Given the description of an element on the screen output the (x, y) to click on. 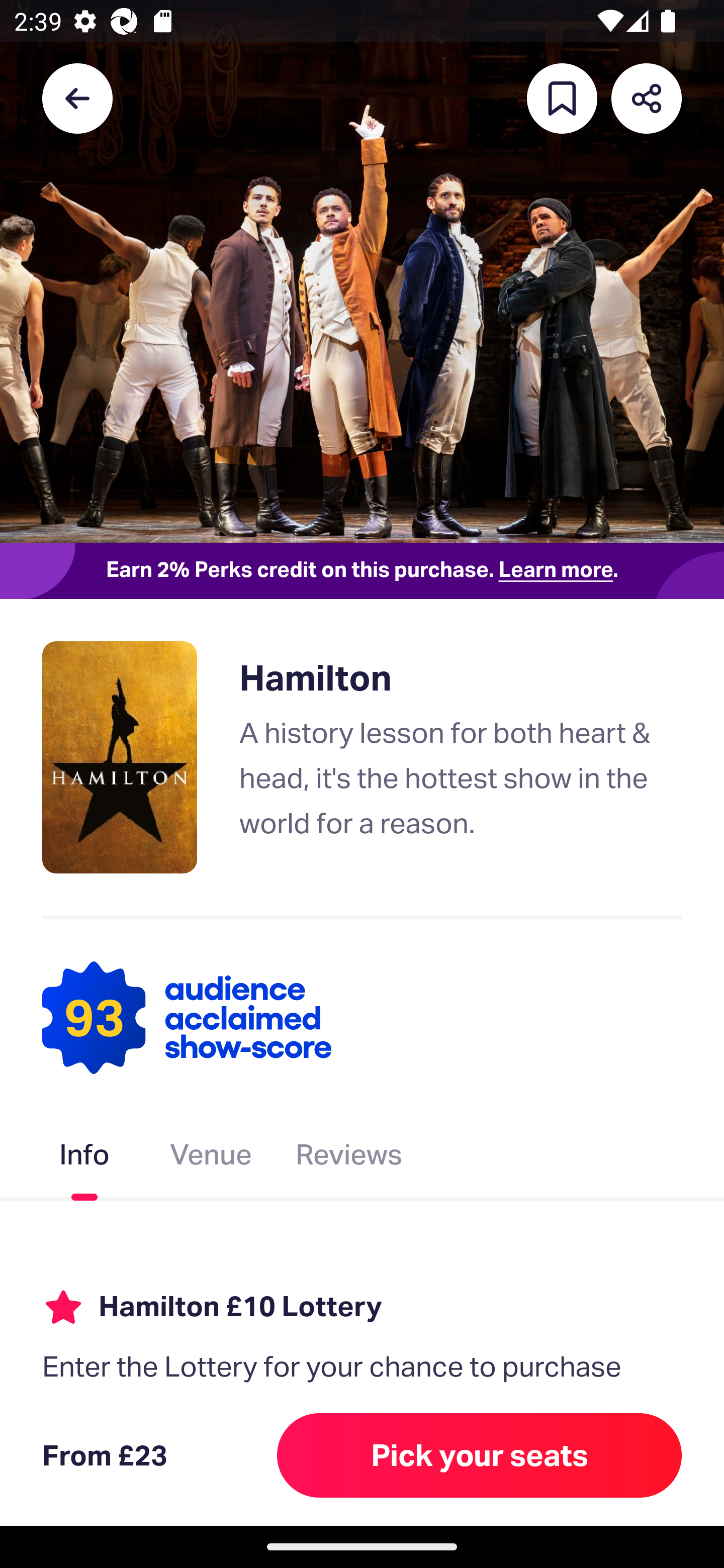
Earn 2% Perks credit on this purchase. Learn more. (362, 570)
Venue (210, 1158)
Reviews (348, 1158)
Pick your seats (479, 1454)
